Given the description of an element on the screen output the (x, y) to click on. 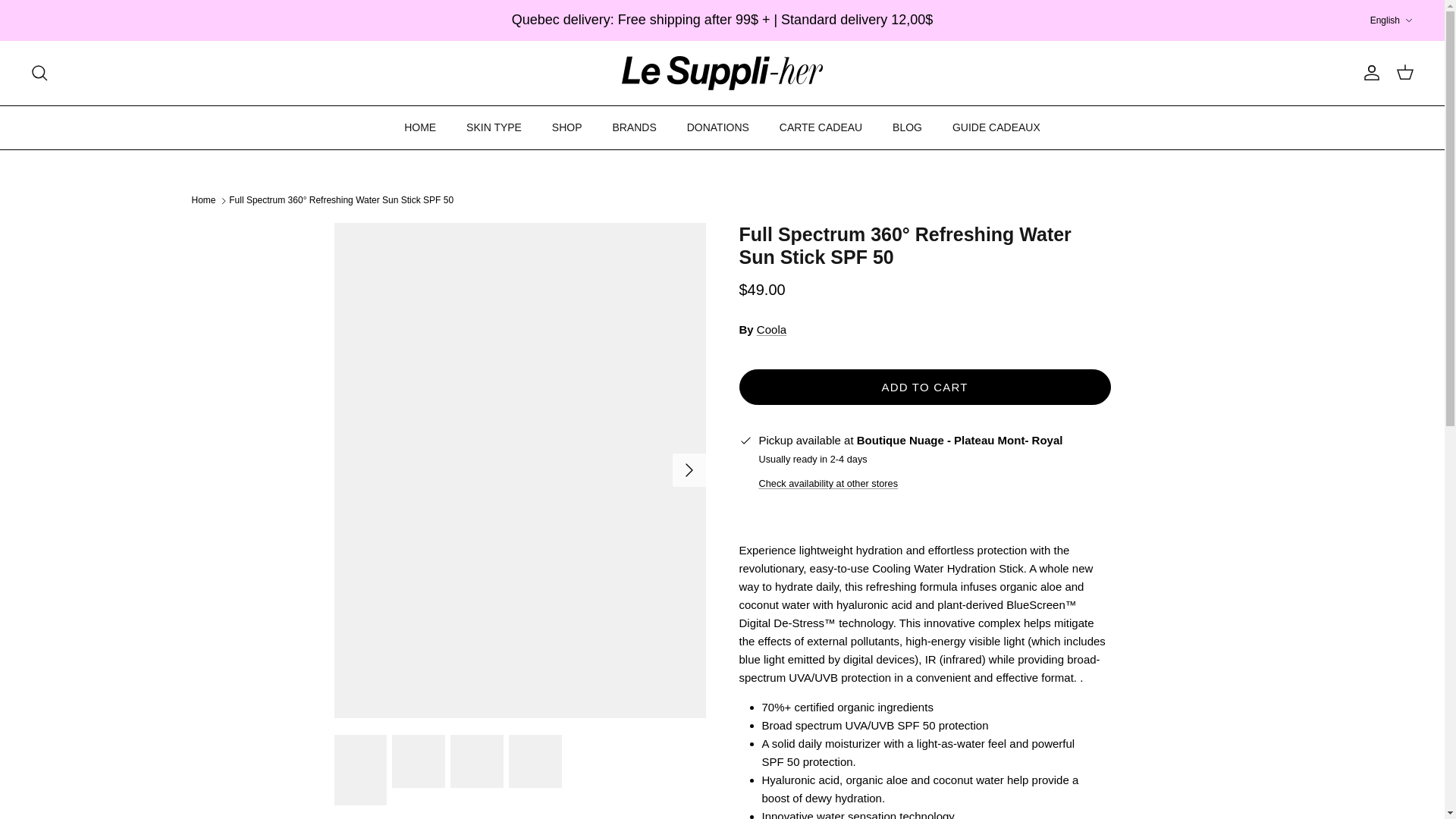
Search (39, 72)
Down (1408, 20)
Le Suppli-her (721, 73)
RIGHT (688, 469)
